Given the description of an element on the screen output the (x, y) to click on. 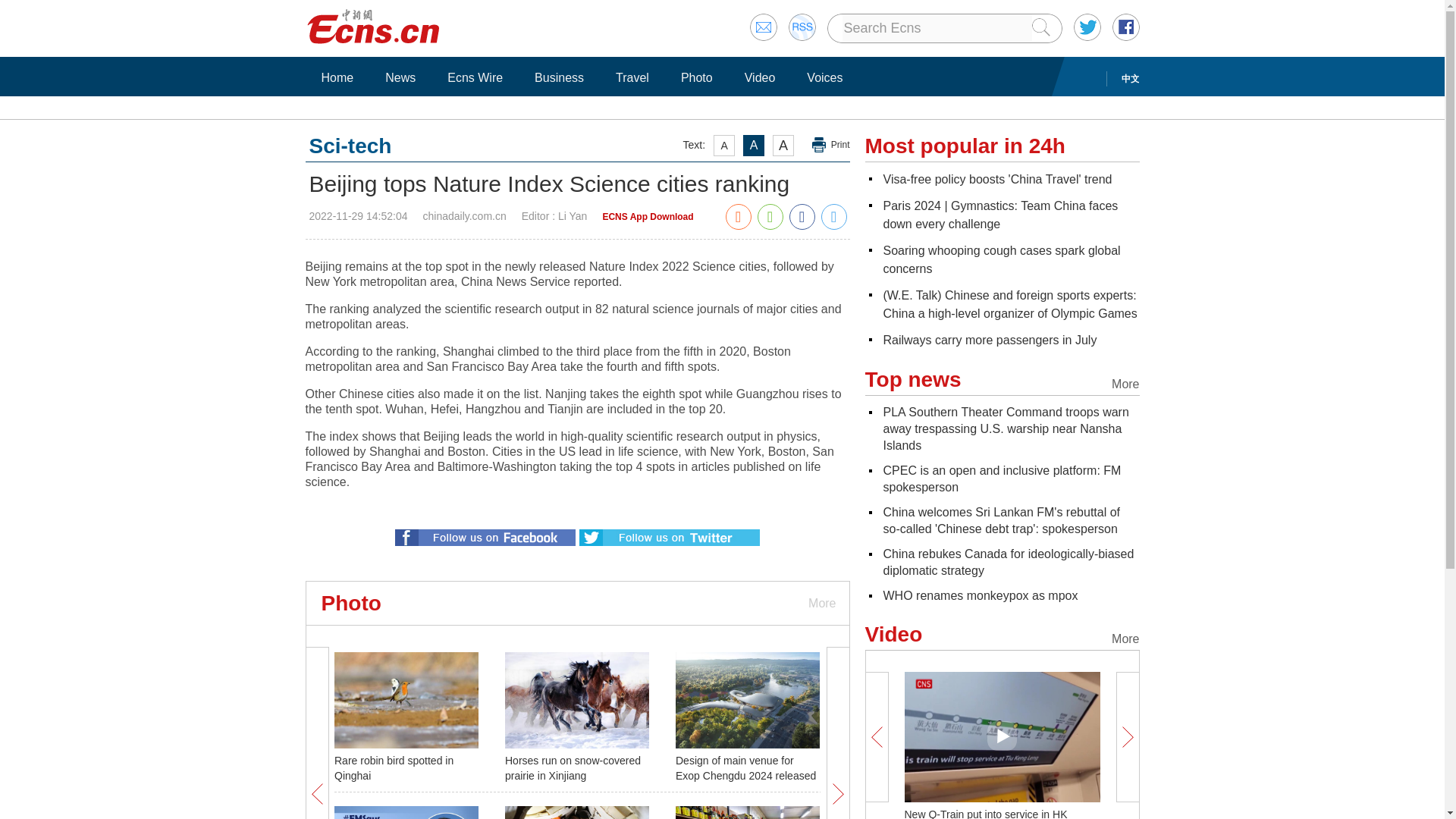
Print (831, 144)
Voices (823, 77)
Horses run on snow-covered prairie in Xinjiang (572, 768)
Rare robin bird spotted in Qinghai (393, 768)
ECNS App Download (647, 216)
Travel (632, 77)
News (400, 77)
Design of main venue for Exop Chengdu 2024 released (745, 768)
Railways (989, 339)
Video (760, 77)
Business (558, 77)
Paris (1000, 214)
Visa-free (997, 178)
Home (337, 77)
Soaring (1000, 259)
